Given the description of an element on the screen output the (x, y) to click on. 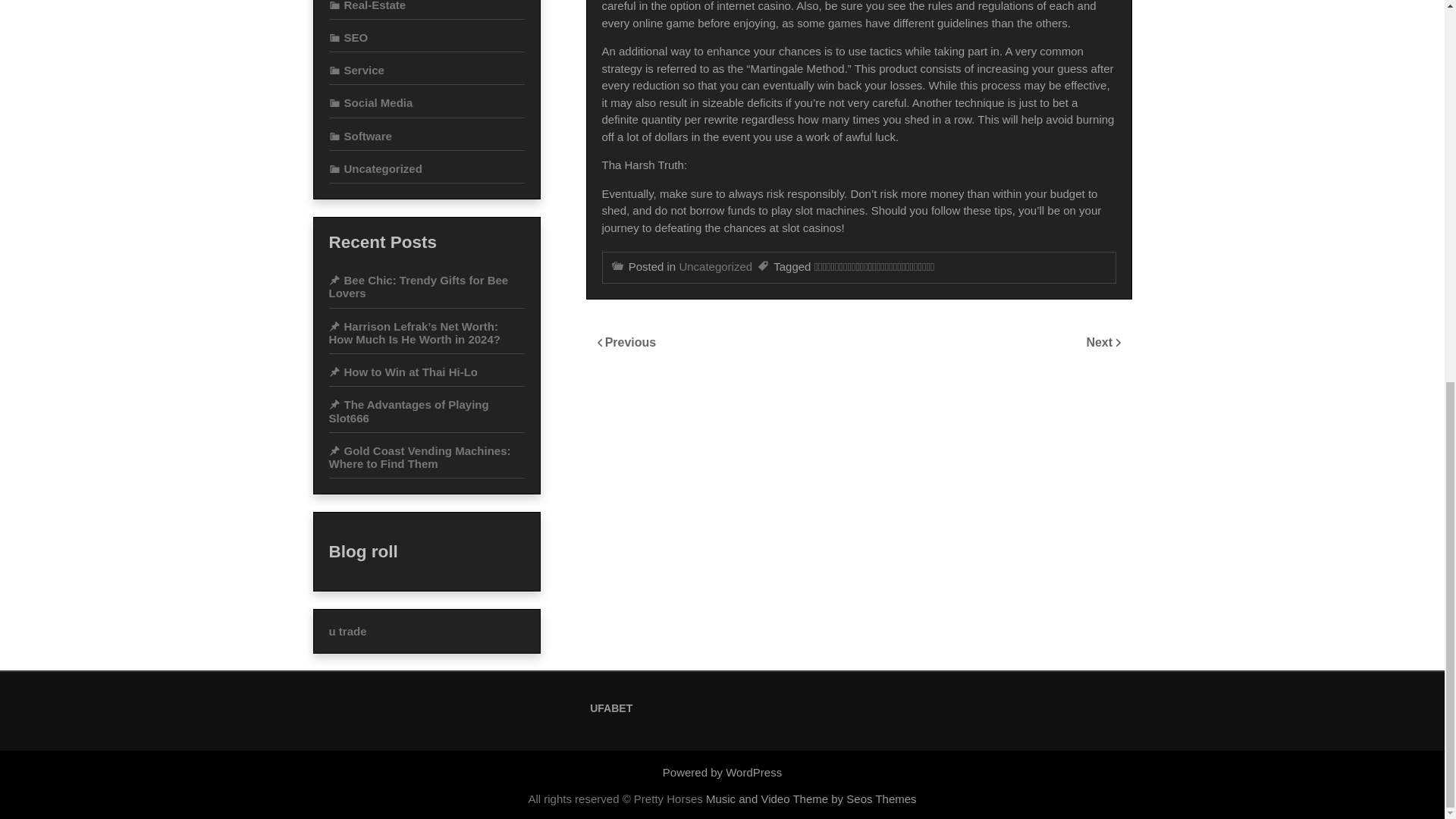
Gold Coast Vending Machines: Where to Find Them (420, 457)
Uncategorized (375, 168)
Powered by WordPress (721, 771)
Software (360, 135)
Next (1100, 341)
Real-Estate (367, 5)
Seos Theme - Music and Video (811, 798)
u trade (347, 631)
Service (356, 69)
Uncategorized (715, 266)
